Given the description of an element on the screen output the (x, y) to click on. 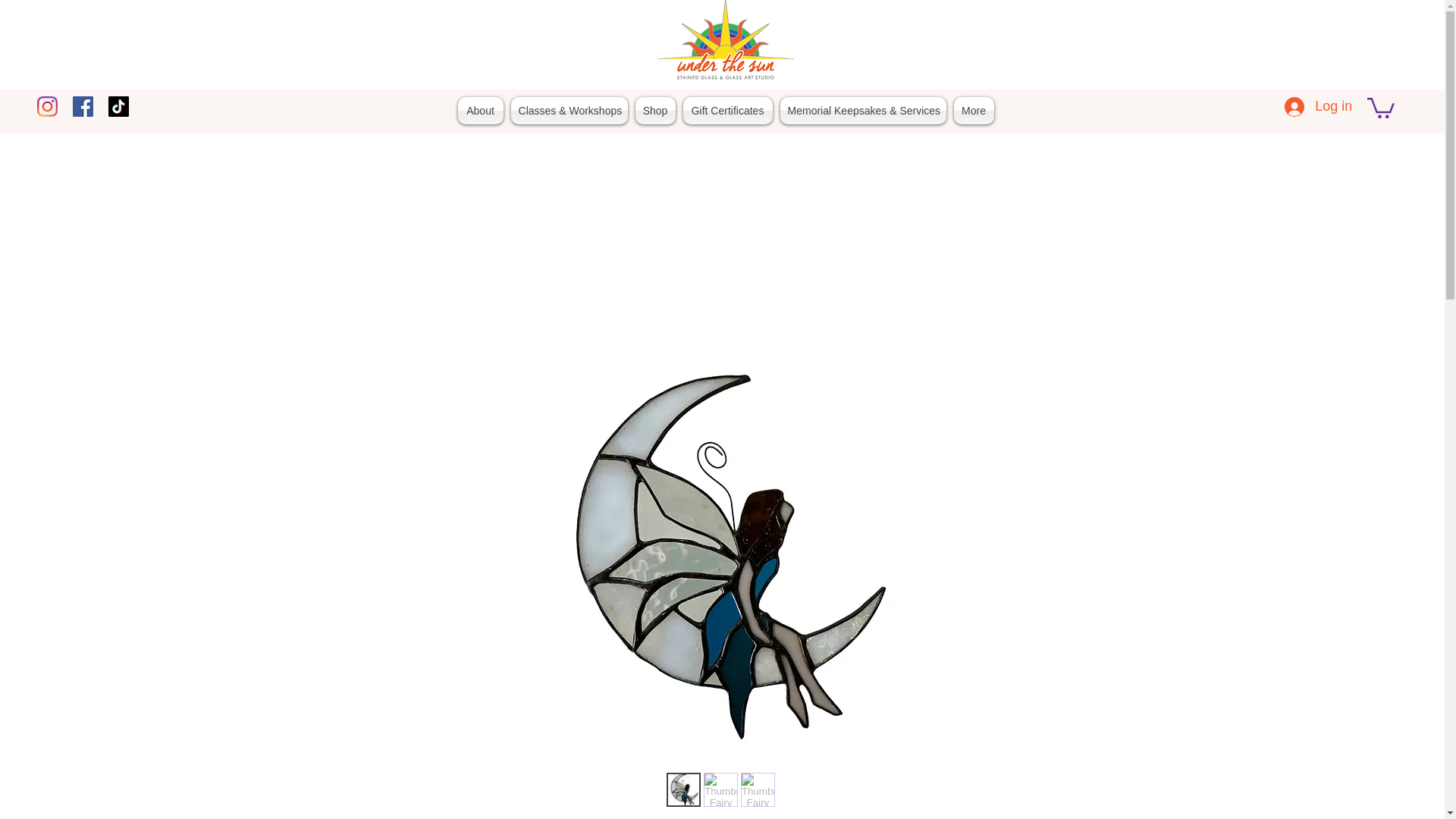
About (480, 110)
Shop (655, 110)
Gift Certificates (727, 110)
Log in (1318, 106)
